Given the description of an element on the screen output the (x, y) to click on. 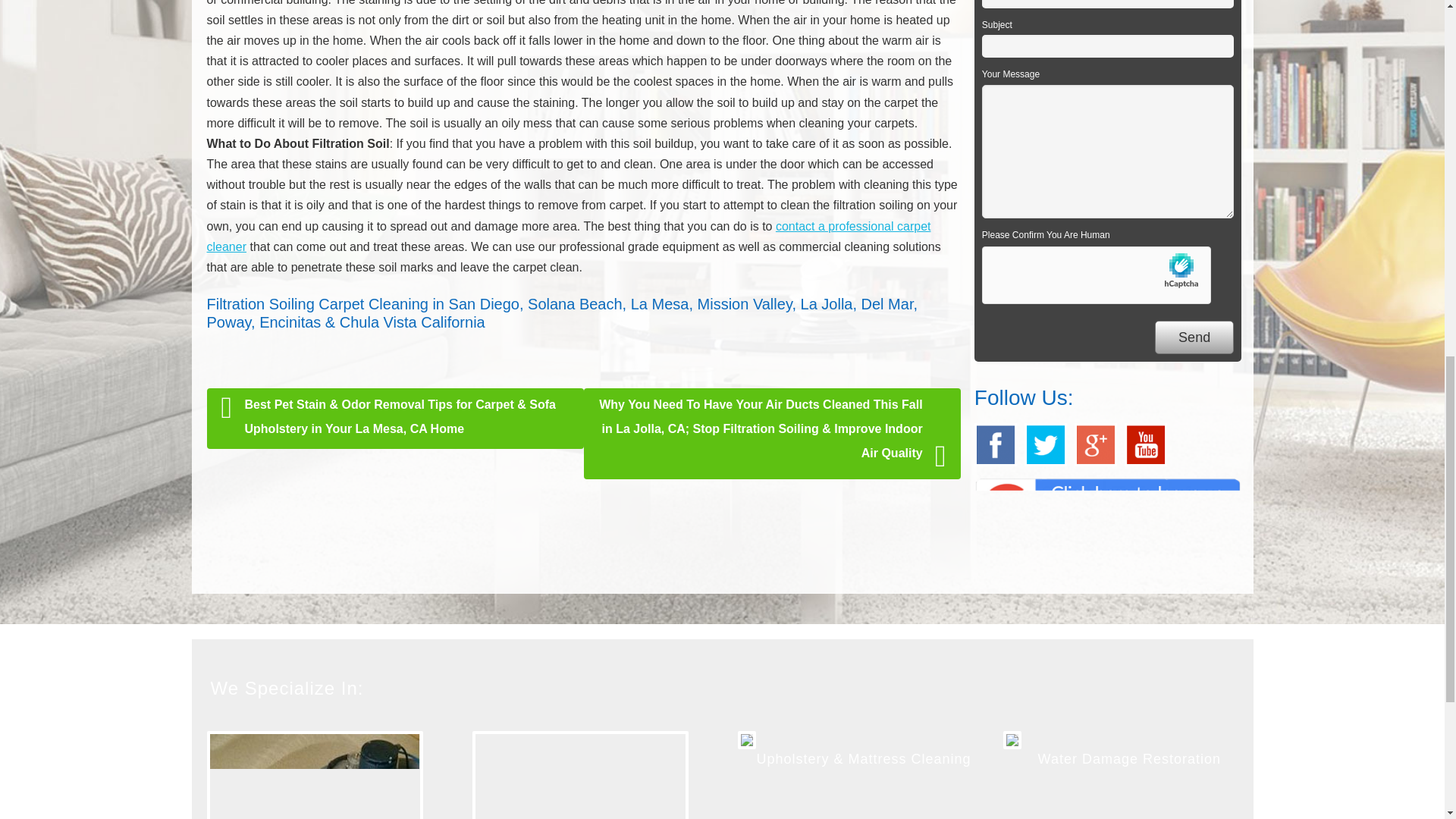
Send (1193, 337)
contact a professional carpet cleaner (568, 236)
Send (1193, 337)
